Given the description of an element on the screen output the (x, y) to click on. 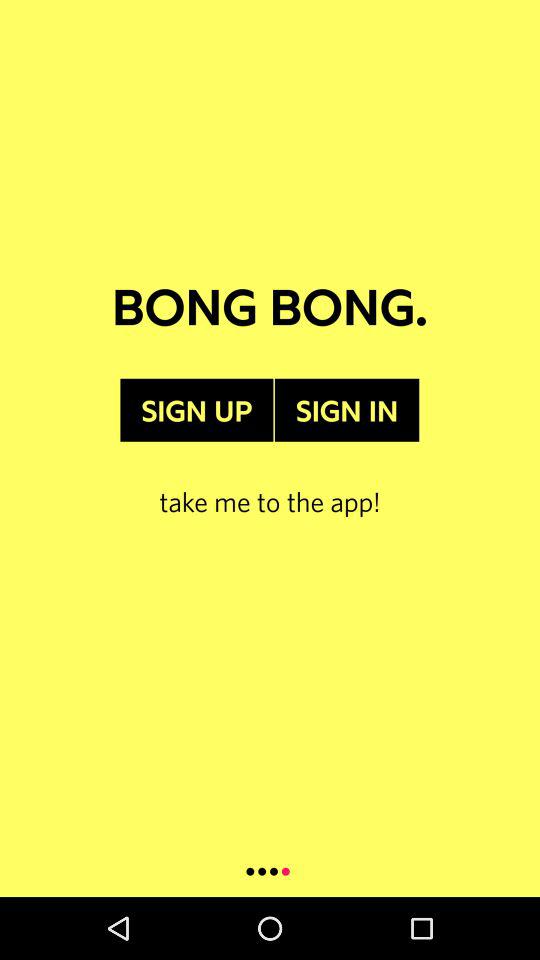
turn off the take me to item (269, 480)
